Given the description of an element on the screen output the (x, y) to click on. 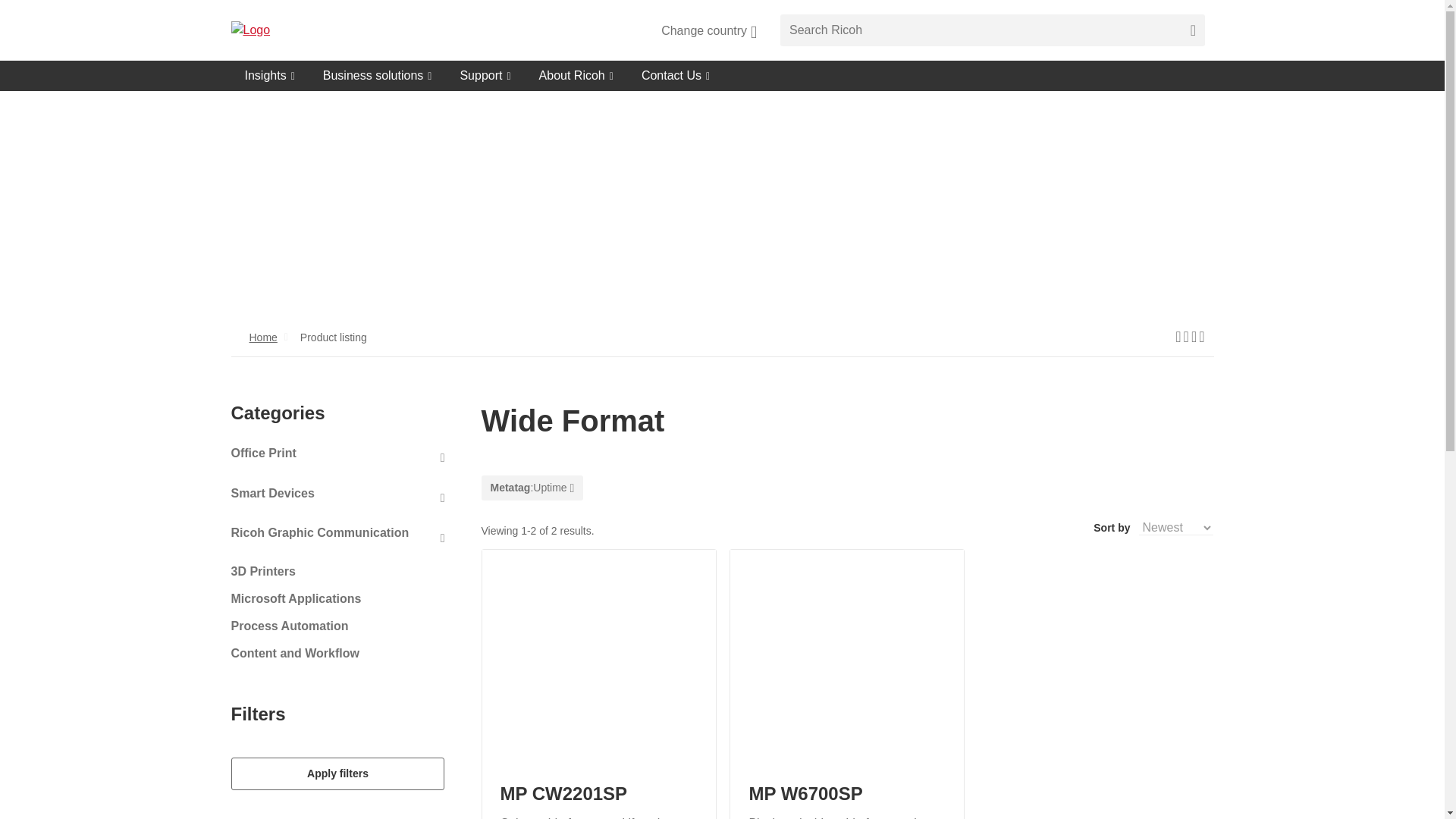
Return to the Homepage (285, 30)
Product listing (333, 337)
Change country (709, 30)
Business solutions (377, 75)
Insights (269, 75)
Remove Uptime filter (531, 487)
